Given the description of an element on the screen output the (x, y) to click on. 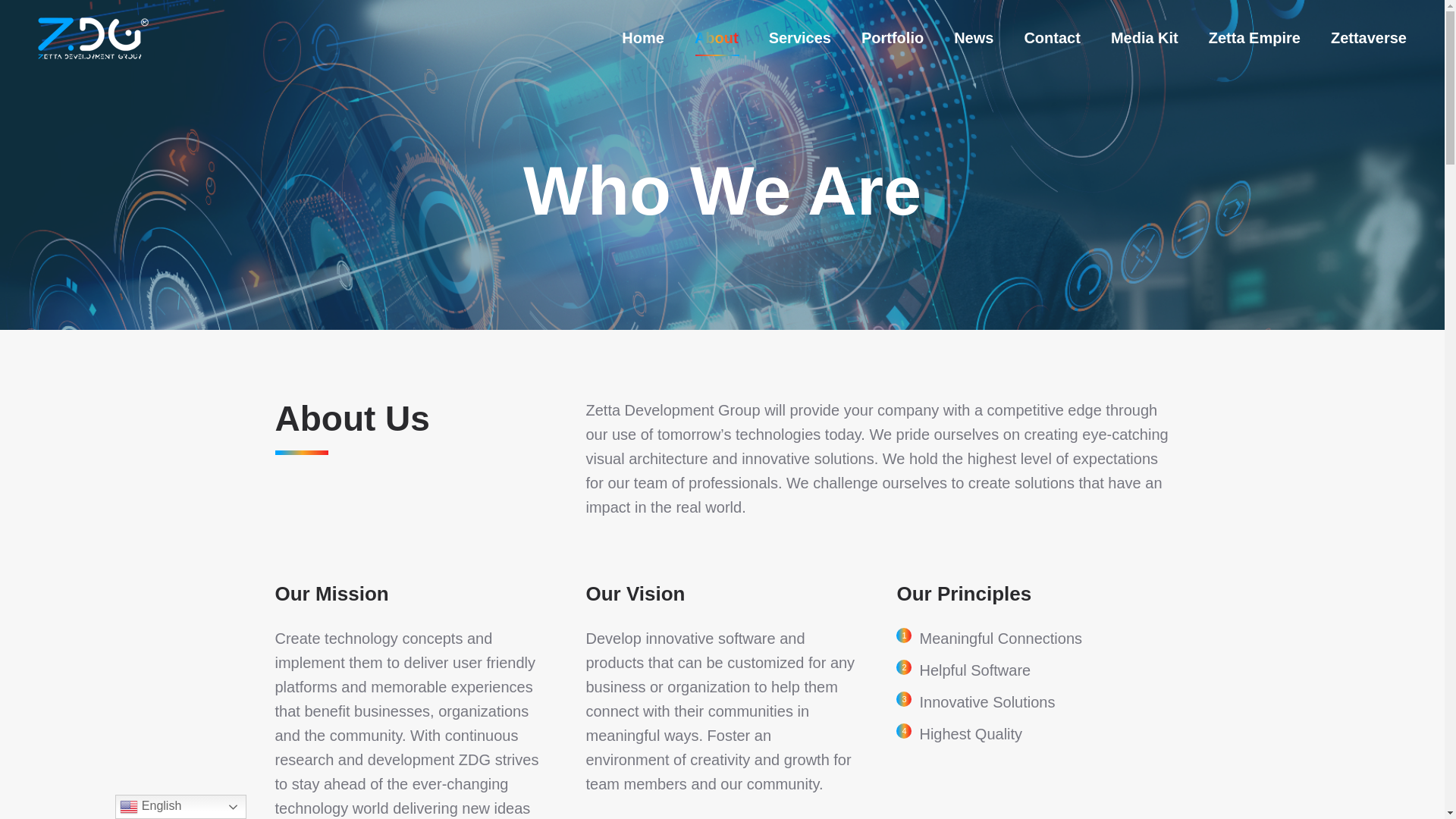
Portfolio (892, 37)
Contact (1051, 37)
Zetta Empire (1254, 37)
Services (799, 37)
Zettaverse (1368, 37)
Media Kit (1143, 37)
